Given the description of an element on the screen output the (x, y) to click on. 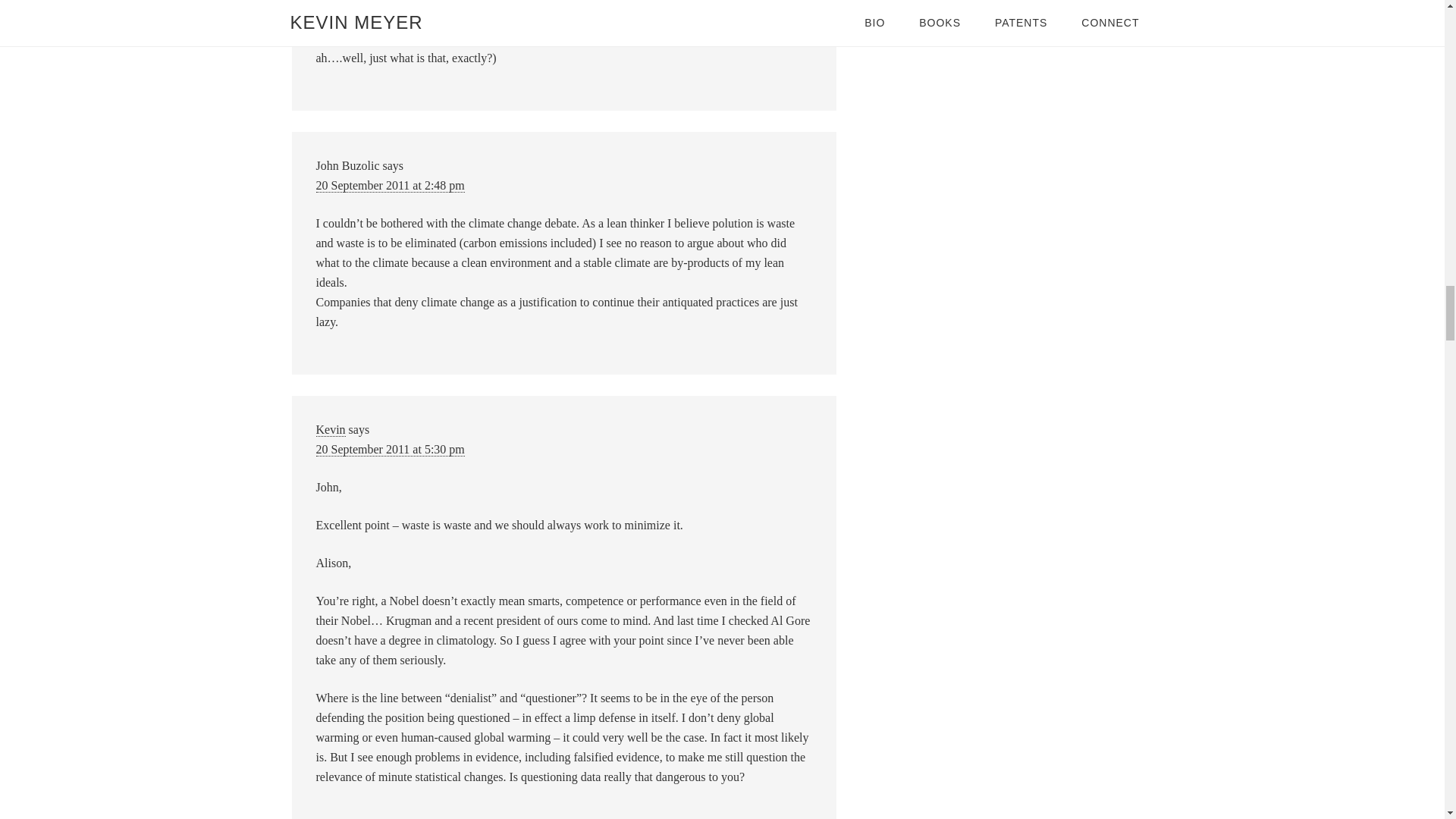
20 September 2011 at 5:30 pm (389, 449)
Kevin (330, 429)
20 September 2011 at 2:48 pm (389, 185)
